Given the description of an element on the screen output the (x, y) to click on. 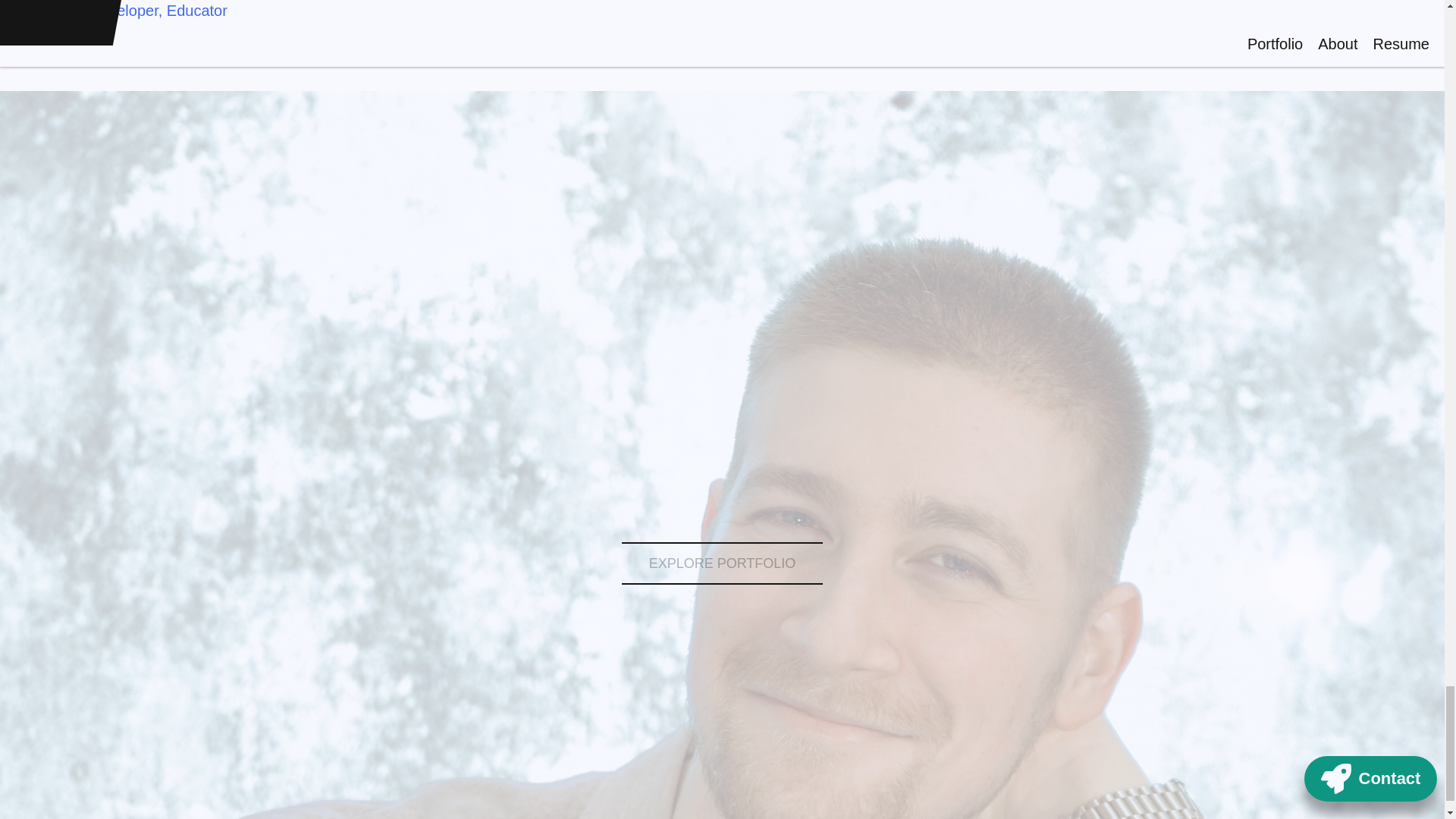
EXPLORE PORTFOLIO (722, 563)
EXPLORE PORTFOLIO (722, 563)
